Given the description of an element on the screen output the (x, y) to click on. 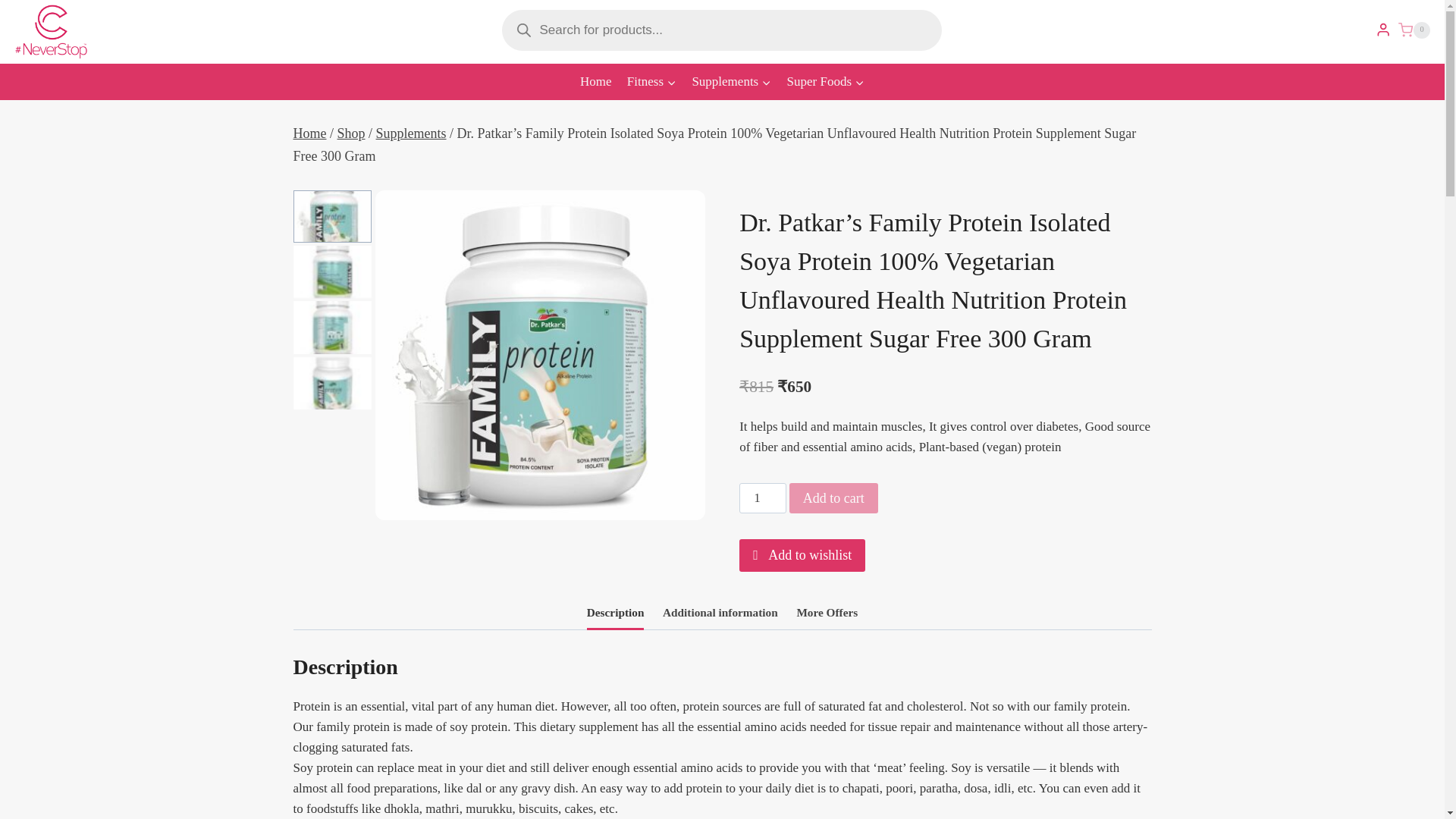
Shop (351, 133)
Home (596, 81)
0 (1413, 30)
Super Foods (825, 81)
Home (309, 133)
Supplements (731, 81)
Fitness (652, 81)
1 (762, 498)
